Given the description of an element on the screen output the (x, y) to click on. 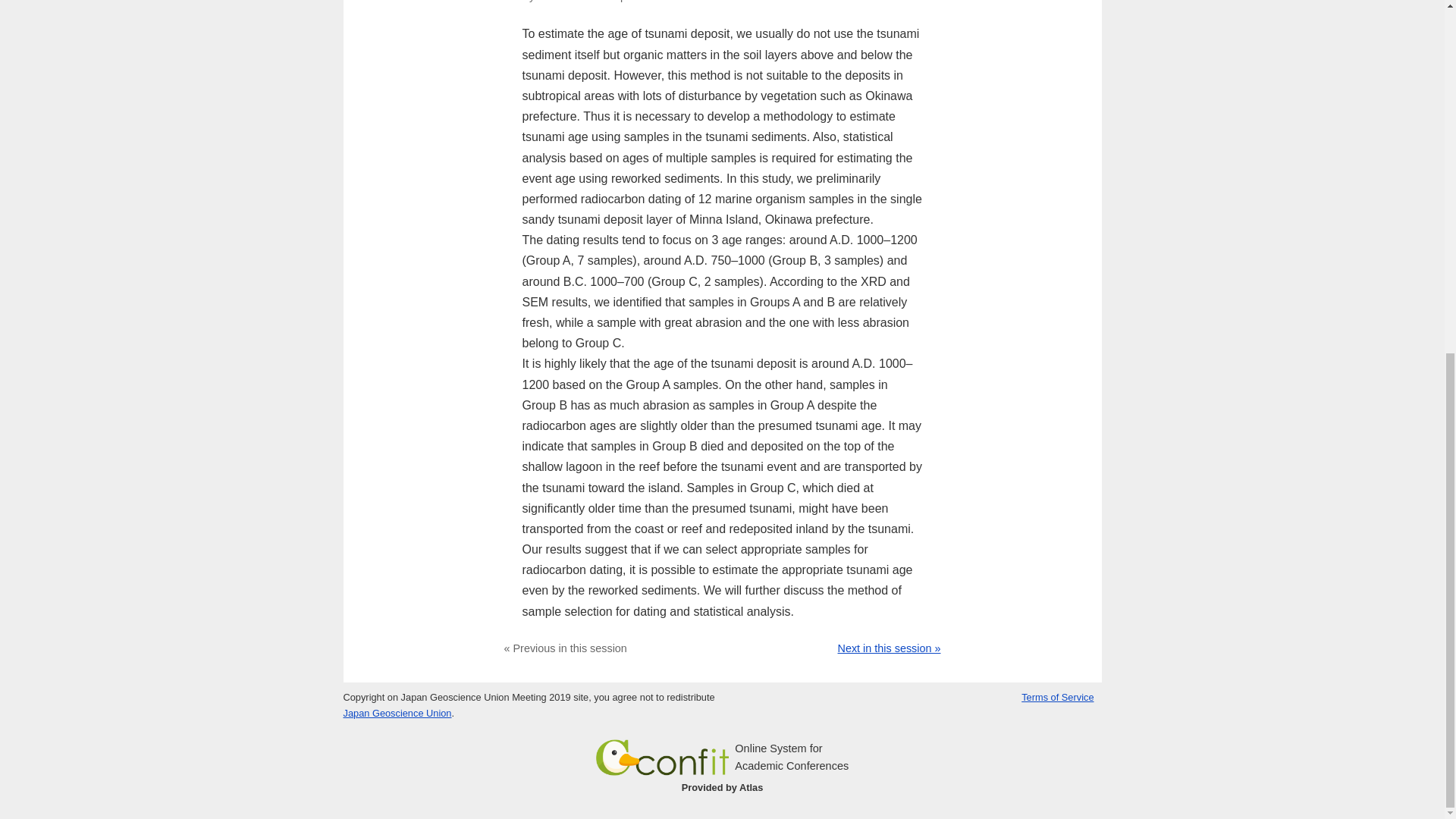
Keywords (721, 2)
